Given the description of an element on the screen output the (x, y) to click on. 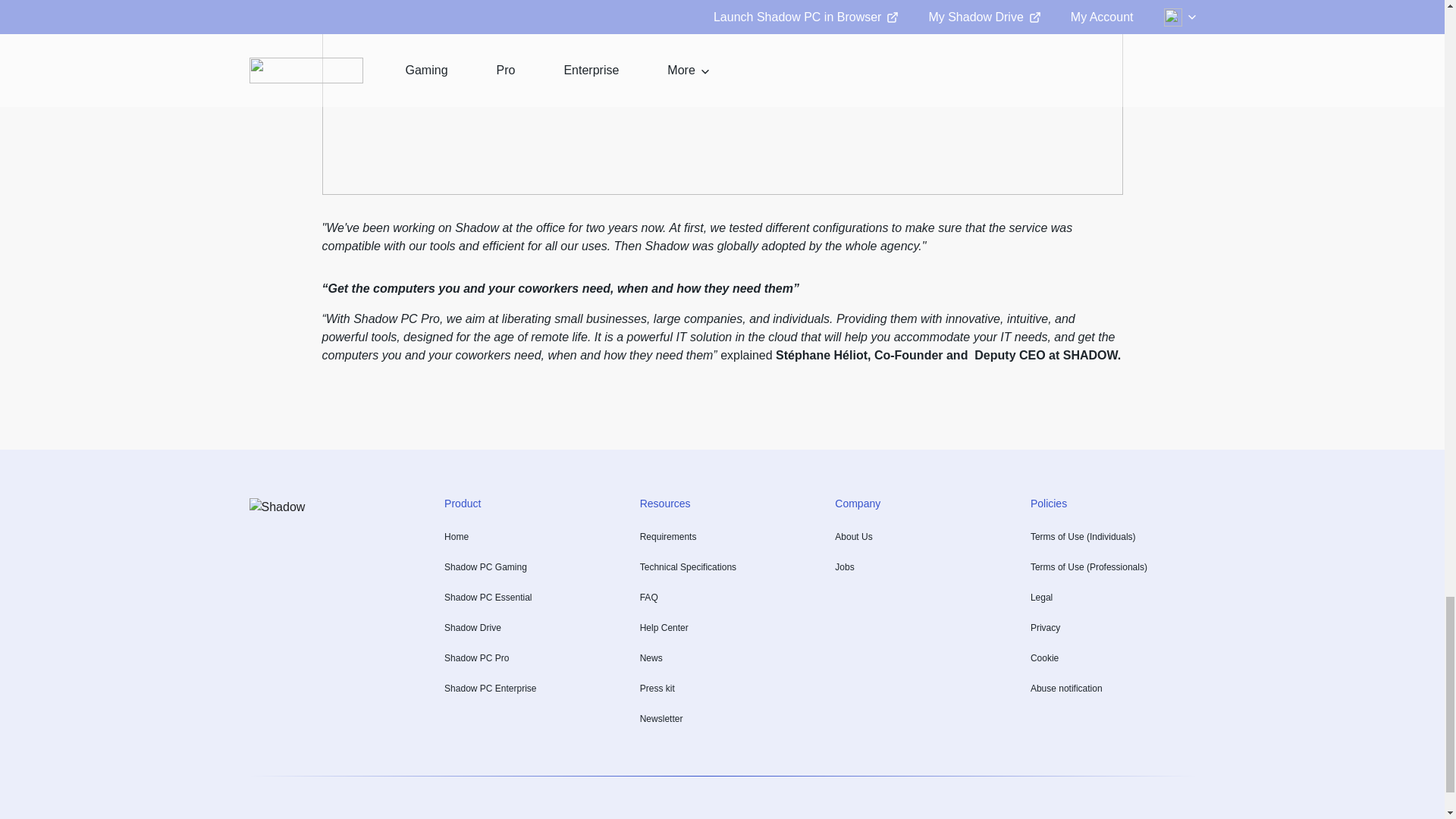
Home (456, 536)
Shadow PC Gaming (485, 567)
